Given the description of an element on the screen output the (x, y) to click on. 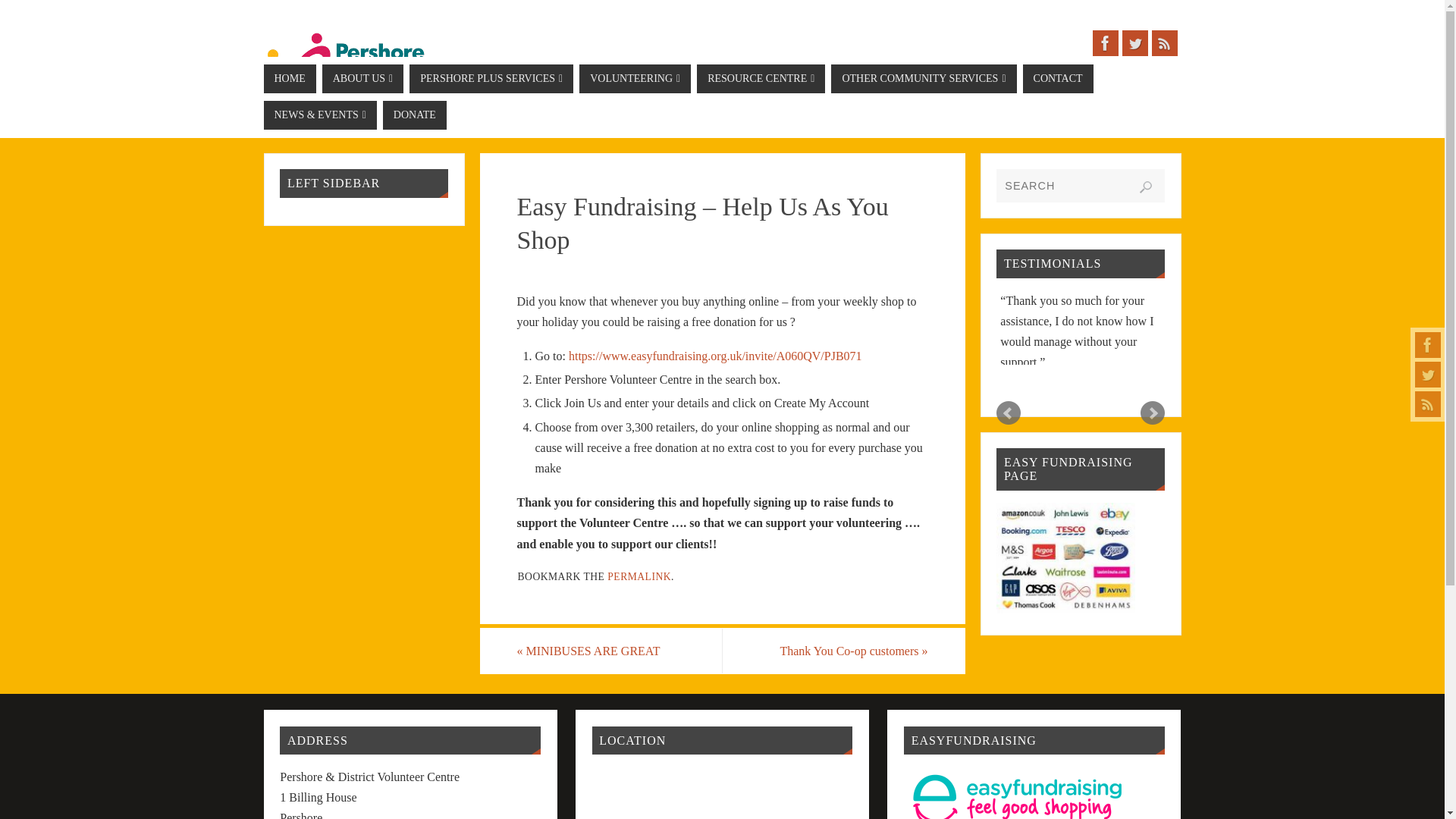
PERSHORE PLUS SERVICES (491, 78)
RESOURCE CENTRE (761, 78)
Facebook (1105, 43)
RSS (1163, 43)
HOME (289, 78)
RSS (1428, 403)
EASY FUNDRAISING PAGE (1065, 608)
Twitter (1428, 374)
Pershore Plus Volunteer Centre (346, 62)
ABOUT US (362, 78)
